Given the description of an element on the screen output the (x, y) to click on. 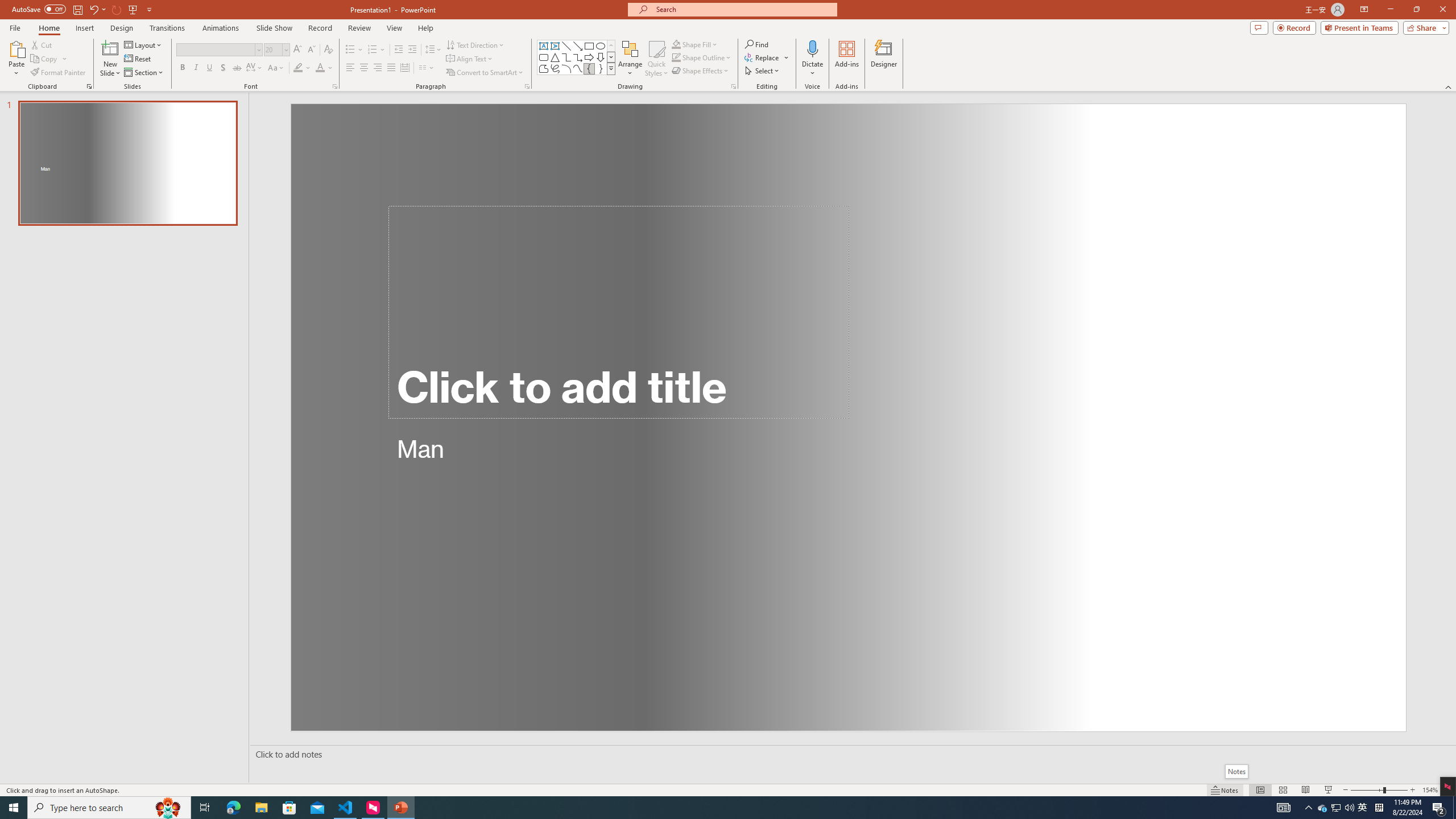
Paste (16, 48)
Text Box (543, 45)
Open (285, 49)
Office Clipboard... (88, 85)
Increase Font Size (297, 49)
Strikethrough (237, 67)
Text Direction (476, 44)
